Given the description of an element on the screen output the (x, y) to click on. 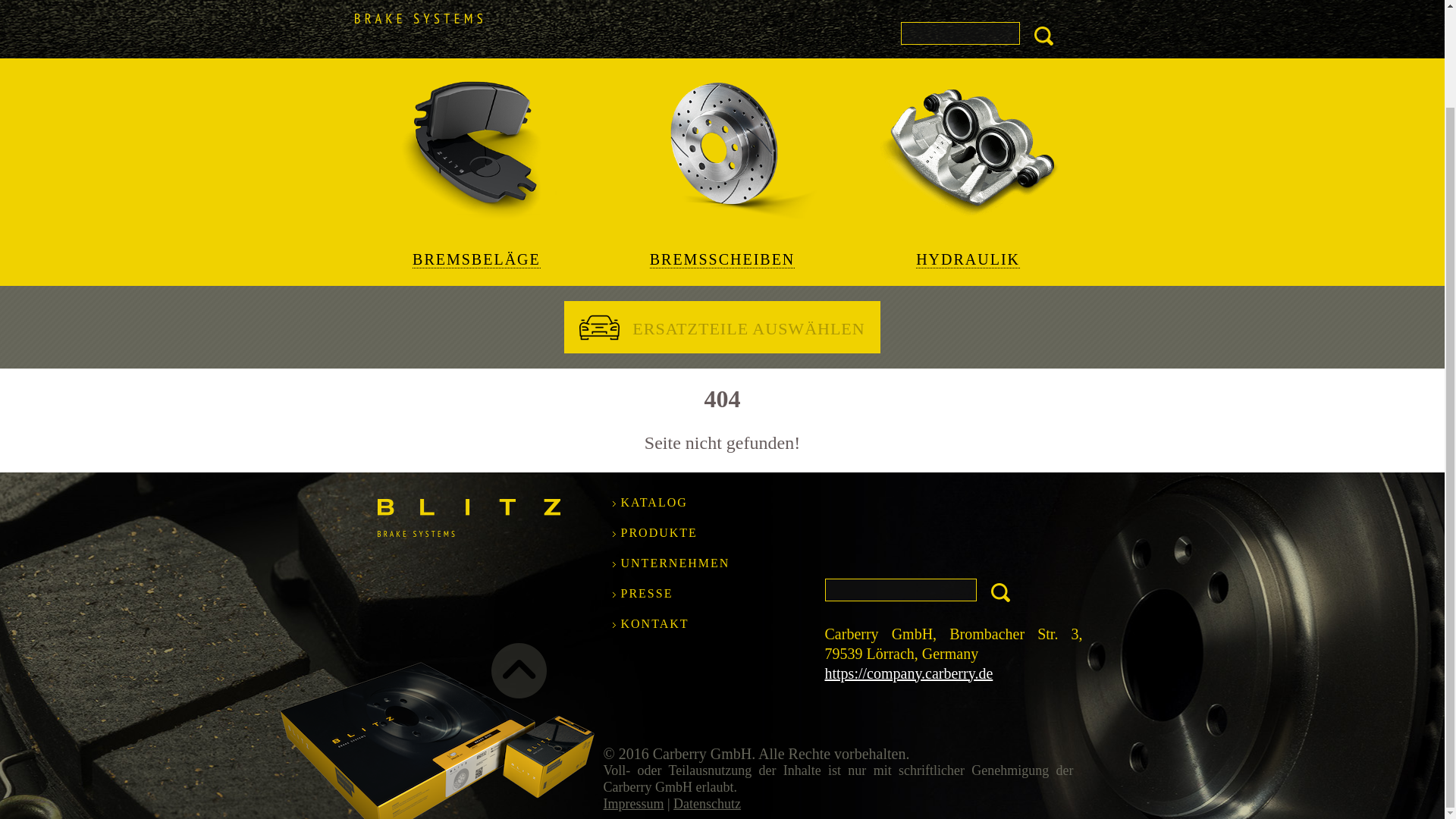
PRESSE (646, 593)
Impressum (633, 803)
PRODUKTE (658, 532)
KONTAKT (654, 623)
UNTERNEHMEN (674, 562)
KATALOG (653, 502)
HYDRAULIK (968, 171)
BREMSSCHEIBEN (721, 171)
Datenschutz (706, 803)
